Given the description of an element on the screen output the (x, y) to click on. 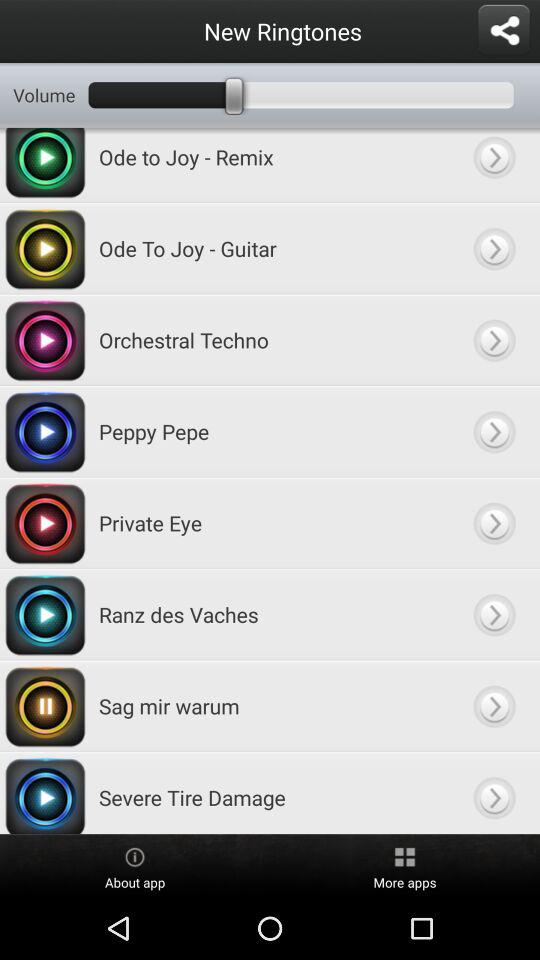
details button (494, 248)
